Given the description of an element on the screen output the (x, y) to click on. 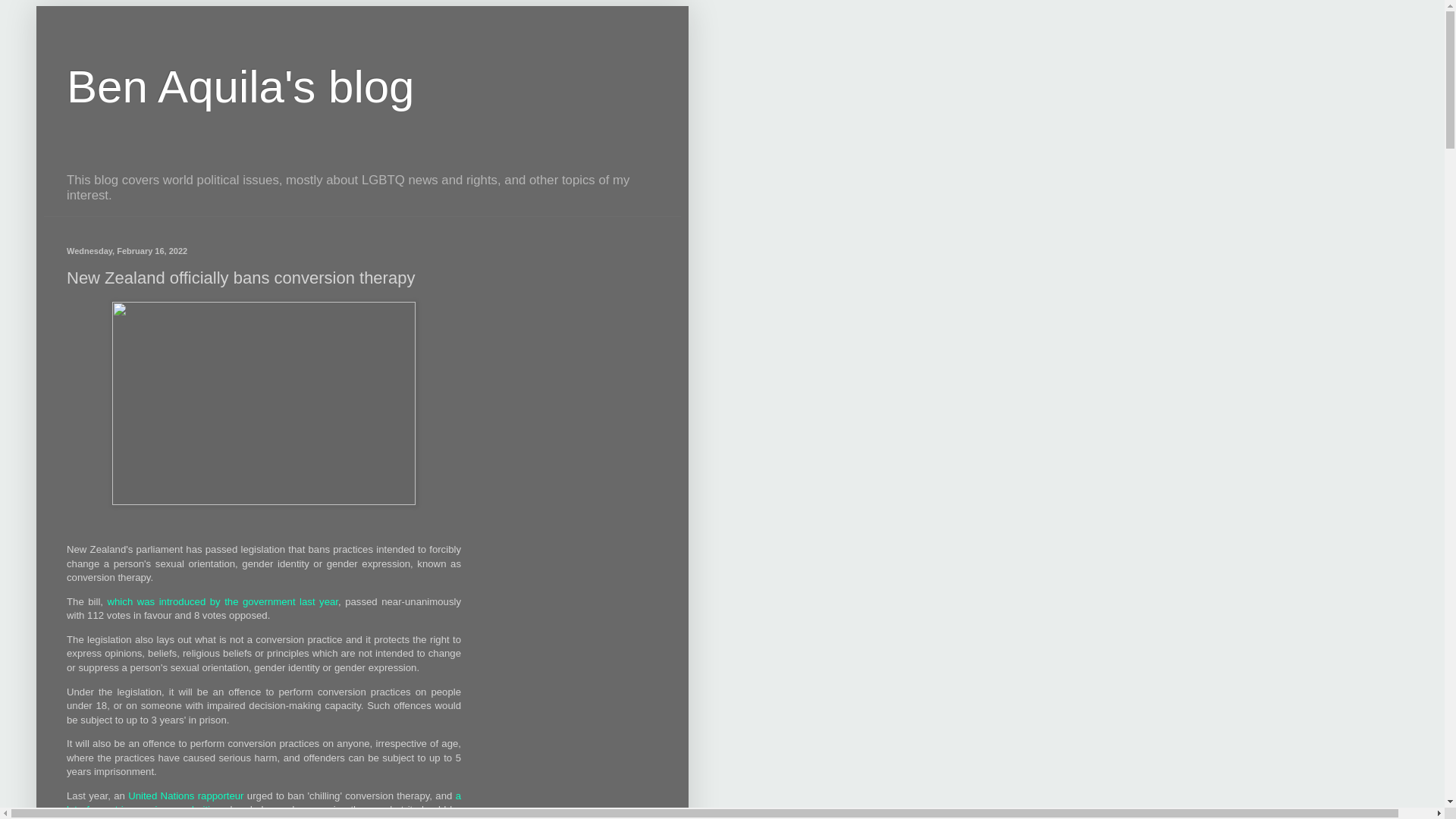
United Nations rapporteur (185, 795)
which was introduced by the government last year (223, 601)
a lot of countries, regions and cities (263, 802)
Ben Aquila's blog (239, 86)
